Given the description of an element on the screen output the (x, y) to click on. 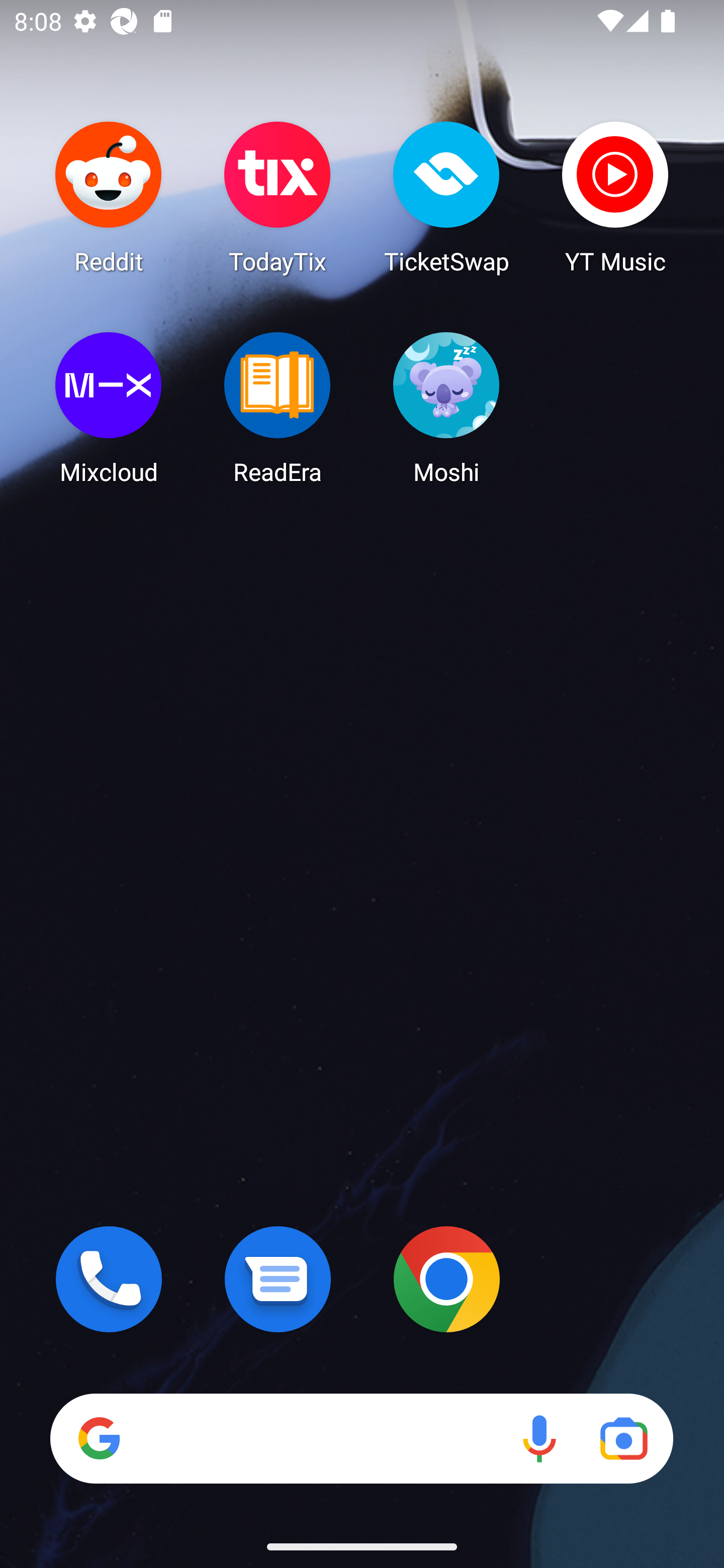
Reddit (108, 196)
TodayTix (277, 196)
TicketSwap (445, 196)
YT Music (615, 196)
Mixcloud (108, 407)
ReadEra (277, 407)
Moshi (445, 407)
Phone (108, 1279)
Messages (277, 1279)
Chrome (446, 1279)
Voice search (539, 1438)
Google Lens (623, 1438)
